Given the description of an element on the screen output the (x, y) to click on. 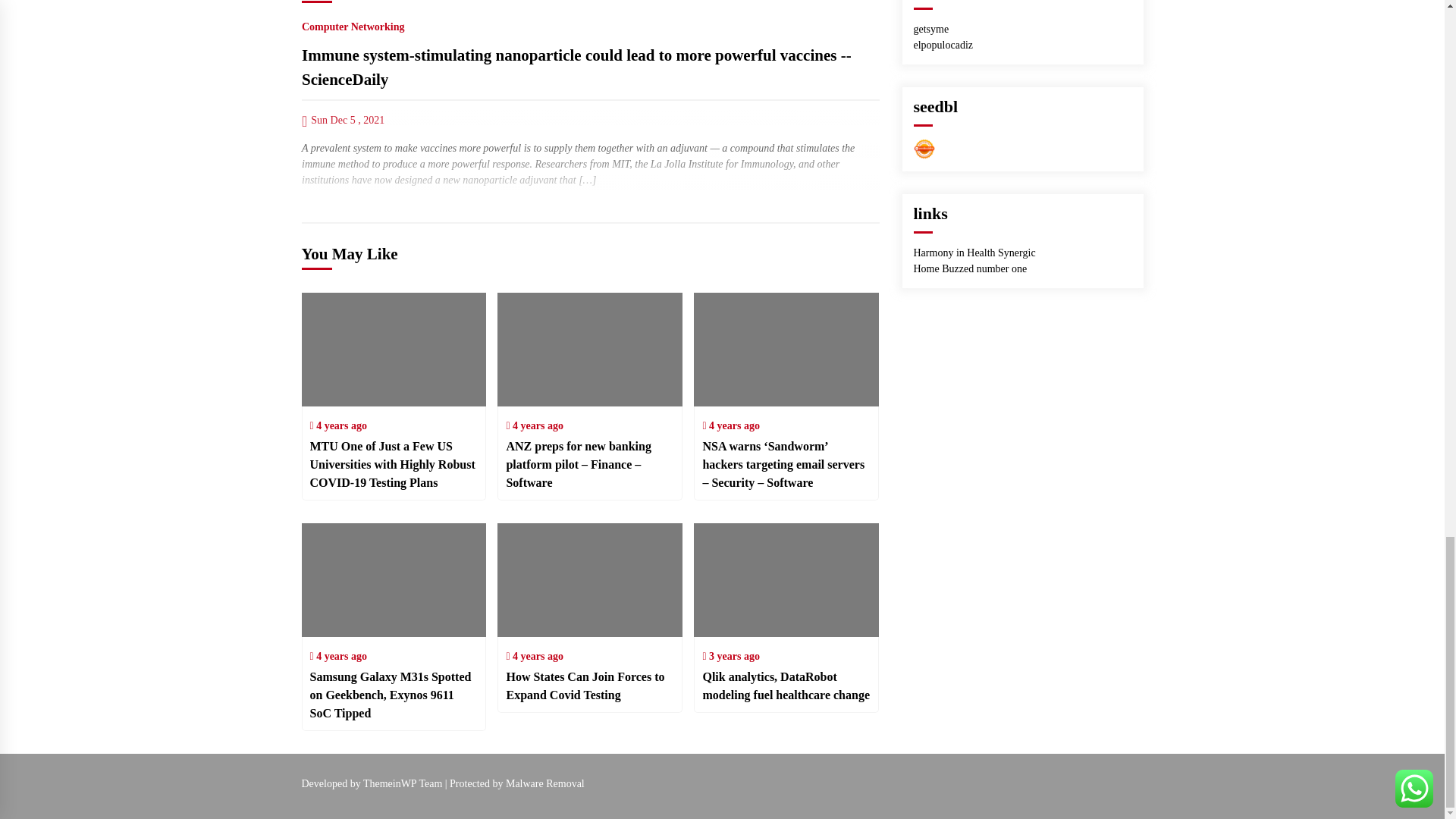
Seedbacklink (923, 148)
